Given the description of an element on the screen output the (x, y) to click on. 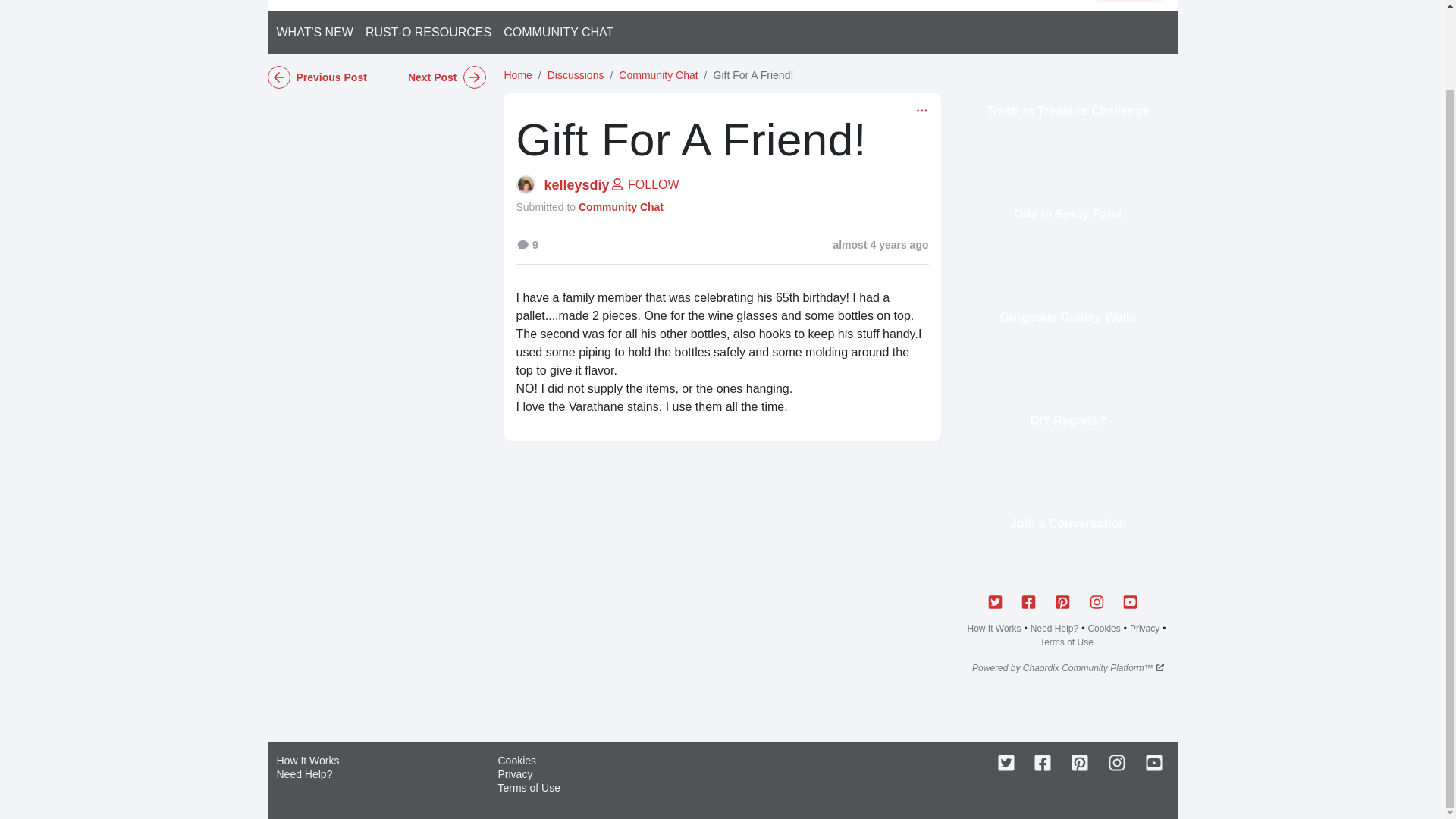
Pinterest (1081, 762)
Previous (320, 77)
Home (517, 74)
Ode to Spray Paint (1067, 214)
Need Help? (1054, 628)
Community Chat (657, 74)
Facebook (1043, 762)
RUST-O RESOURCES (428, 32)
9 (526, 244)
Cookies (1103, 628)
WHAT'S NEW (317, 32)
Instagram (1118, 762)
Gorgeous Gallery Walls (1067, 317)
Next Post (429, 77)
kelleysdiy (577, 185)
